Given the description of an element on the screen output the (x, y) to click on. 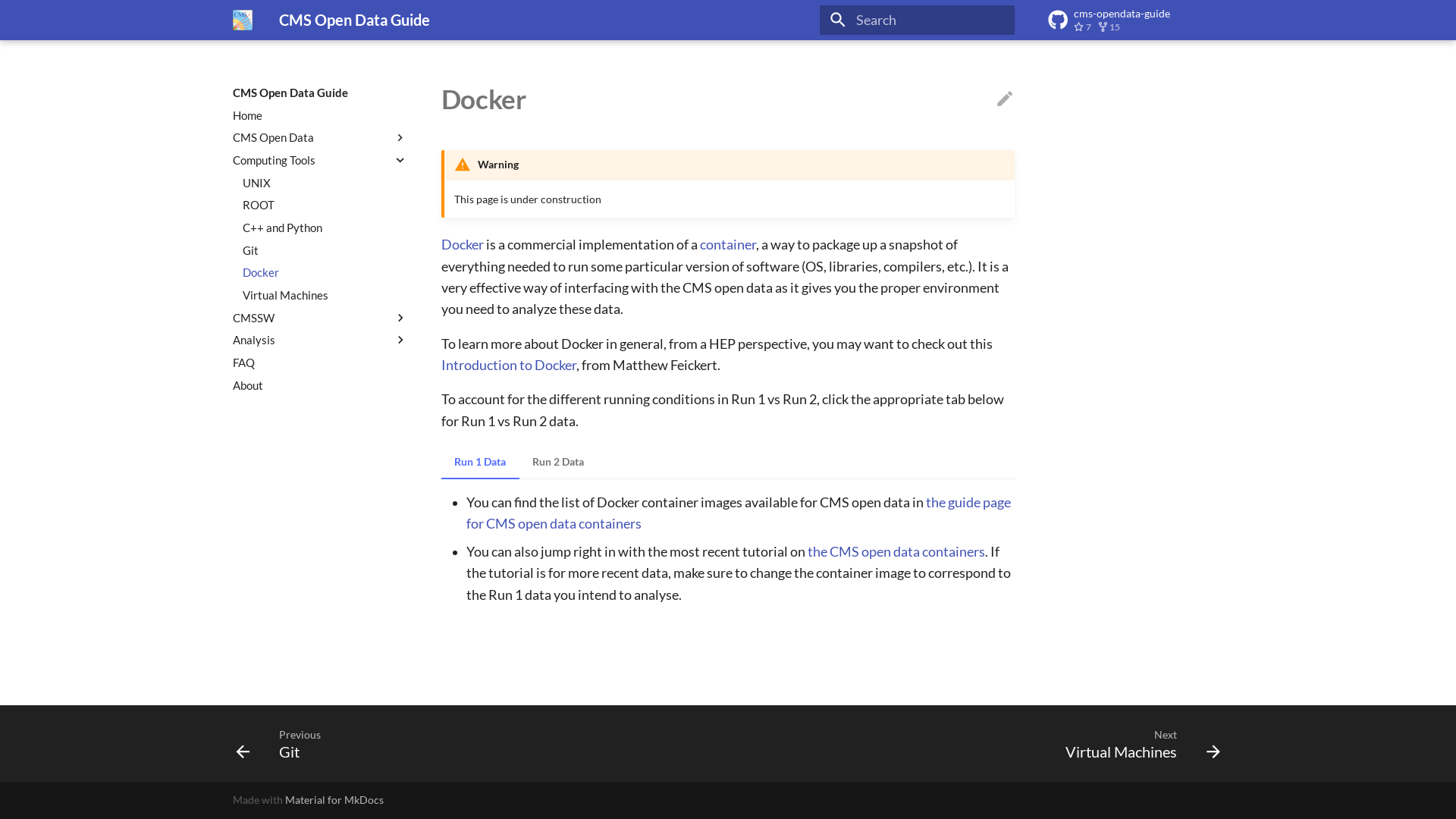
Material for MkDocs Element type: text (334, 799)
the guide page for CMS open data containers Element type: text (738, 512)
ROOT Element type: text (324, 204)
FAQ Element type: text (319, 362)
Introduction to Docker Element type: text (508, 365)
CMS Open Data Guide Element type: hover (242, 19)
Docker Element type: text (462, 244)
container Element type: text (727, 244)
C++ and Python Element type: text (324, 227)
Edit this page Element type: hover (1004, 98)
Virtual Machines Element type: text (324, 294)
the CMS open data containers Element type: text (896, 551)
cms-opendata-guide
7
15 Element type: text (1135, 20)
Docker Element type: text (324, 271)
About Element type: text (319, 384)
Home Element type: text (319, 114)
Previous
Git Element type: text (272, 743)
Next
Virtual Machines Element type: text (1137, 743)
Git Element type: text (324, 249)
UNIX Element type: text (324, 182)
